Given the description of an element on the screen output the (x, y) to click on. 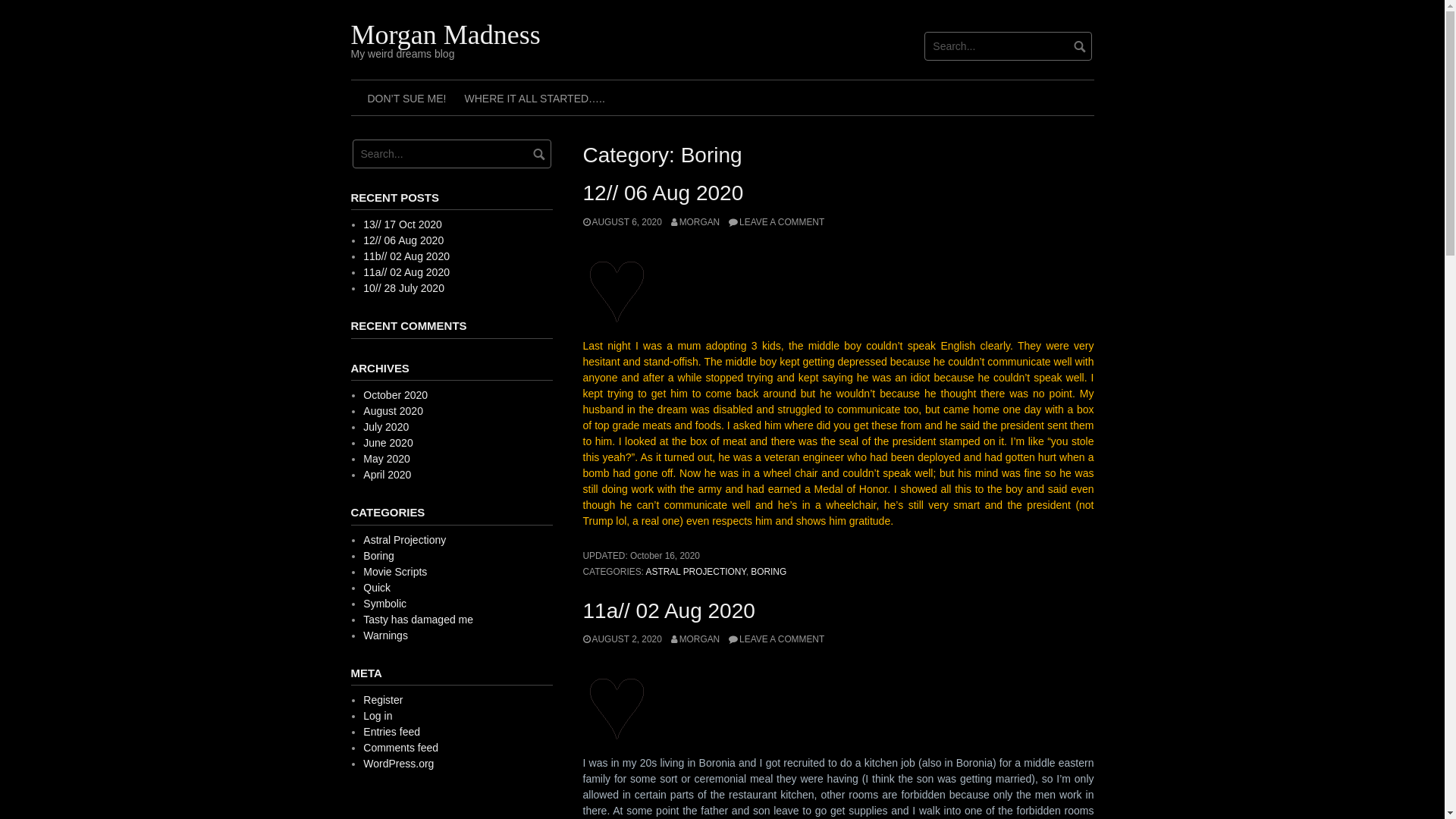
Search for: Element type: hover (1008, 45)
Entries feed Element type: text (391, 731)
July 2020 Element type: text (385, 426)
Tasty has damaged me Element type: text (418, 619)
Quick Element type: text (376, 587)
13// 17 Oct 2020 Element type: text (402, 224)
May 2020 Element type: text (386, 458)
12// 06 Aug 2020 Element type: text (403, 240)
October 16, 2020 Element type: text (664, 555)
MORGAN Element type: text (695, 638)
LEAVE A COMMENT Element type: text (776, 221)
Morgan Madness Element type: text (444, 34)
ASTRAL PROJECTIONY Element type: text (696, 571)
Symbolic Element type: text (384, 603)
LEAVE A COMMENT Element type: text (776, 638)
MORGAN Element type: text (695, 221)
12// 06 Aug 2020 Element type: text (662, 192)
11a// 02 Aug 2020 Element type: text (668, 610)
Log in Element type: text (377, 715)
August 2020 Element type: text (393, 410)
11b// 02 Aug 2020 Element type: text (406, 256)
Movie Scripts Element type: text (394, 571)
Register Element type: text (382, 699)
Warnings Element type: text (385, 635)
Search for: Element type: hover (450, 153)
AUGUST 6, 2020 Element type: text (621, 221)
Comments feed Element type: text (400, 747)
11a// 02 Aug 2020 Element type: text (406, 272)
Boring Element type: text (378, 555)
BORING Element type: text (768, 571)
AUGUST 2, 2020 Element type: text (621, 638)
WordPress.org Element type: text (398, 763)
April 2020 Element type: text (387, 474)
Skip to content Element type: text (0, 0)
June 2020 Element type: text (387, 442)
October 2020 Element type: text (395, 395)
10// 28 July 2020 Element type: text (403, 288)
Astral Projectiony Element type: text (404, 539)
